Given the description of an element on the screen output the (x, y) to click on. 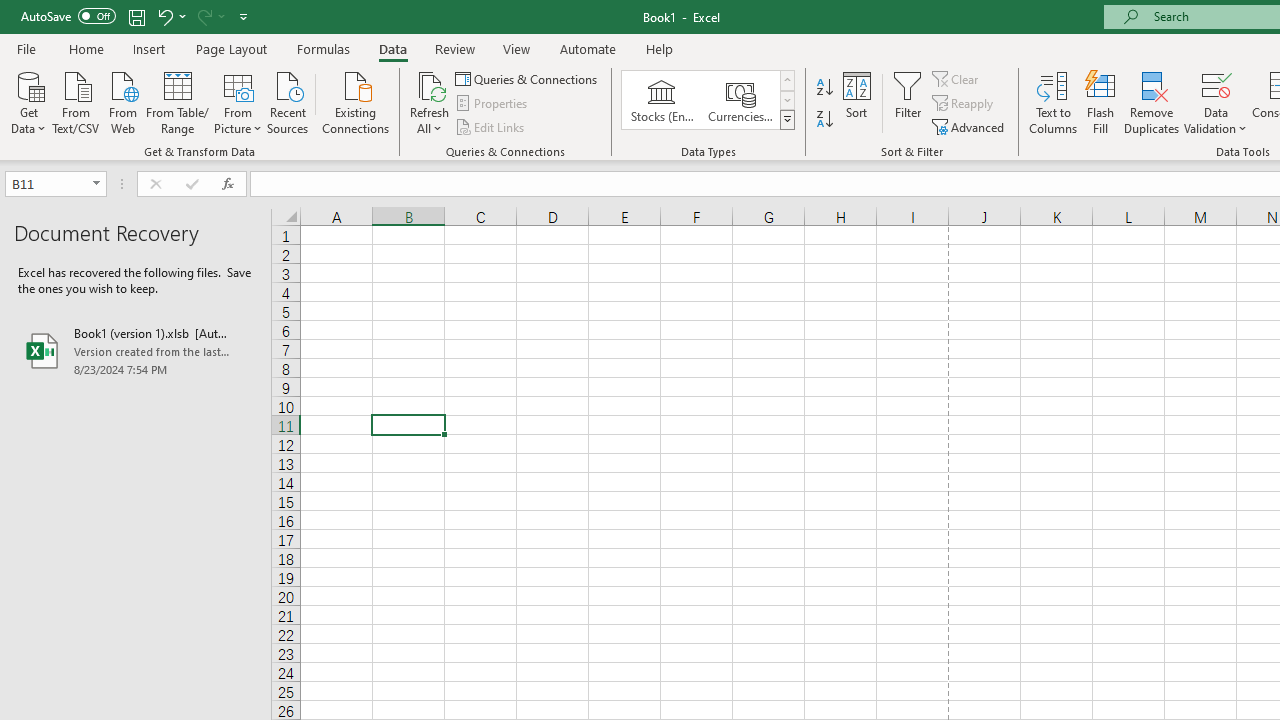
From Text/CSV (75, 101)
From Picture (238, 101)
Edit Links (491, 126)
Filter (908, 102)
Data Types (786, 120)
Properties (492, 103)
AutomationID: ConvertToLinkedEntity (708, 99)
Text to Columns... (1053, 102)
